Given the description of an element on the screen output the (x, y) to click on. 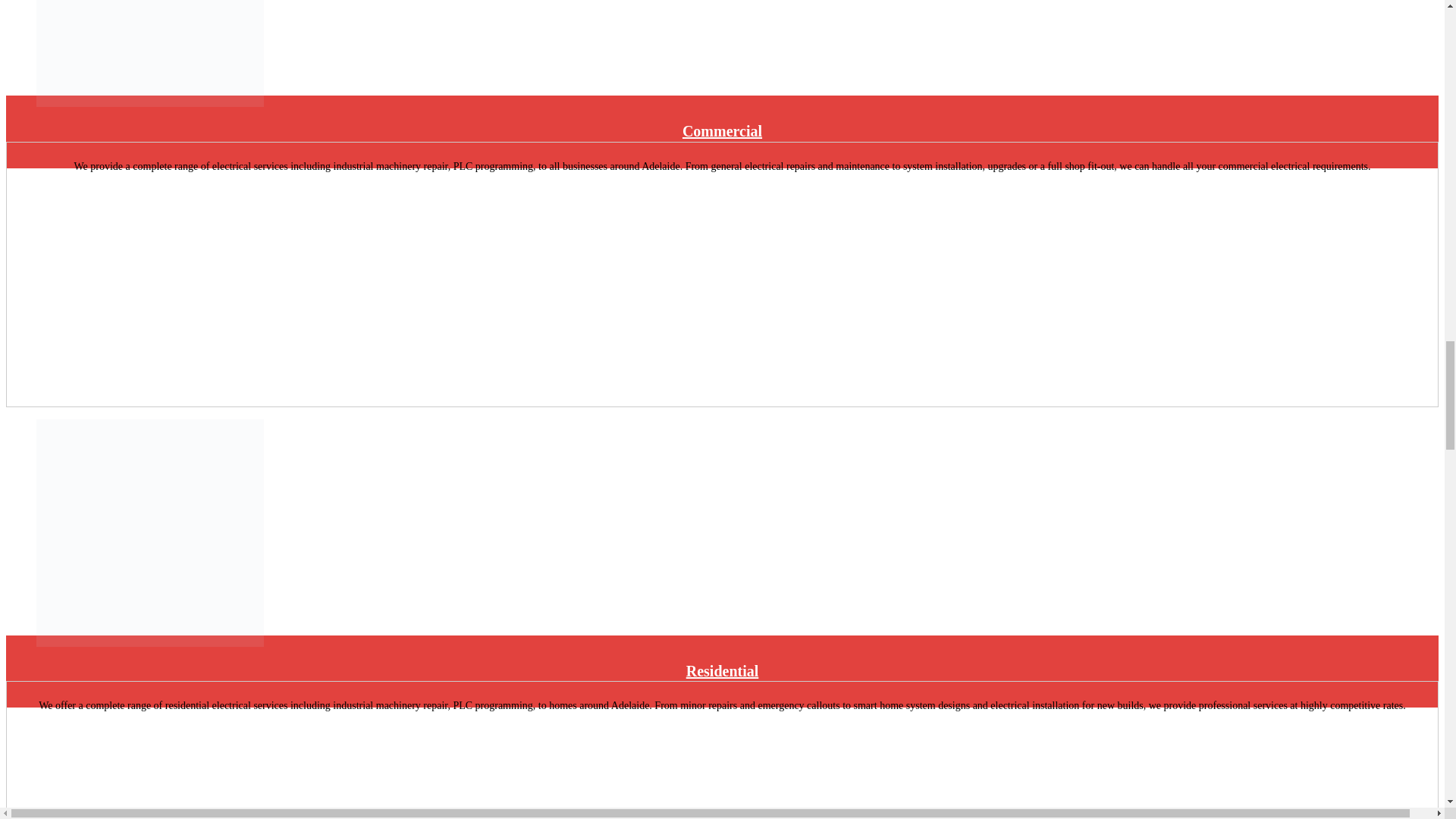
Commercial (721, 130)
Residential (721, 670)
